Given the description of an element on the screen output the (x, y) to click on. 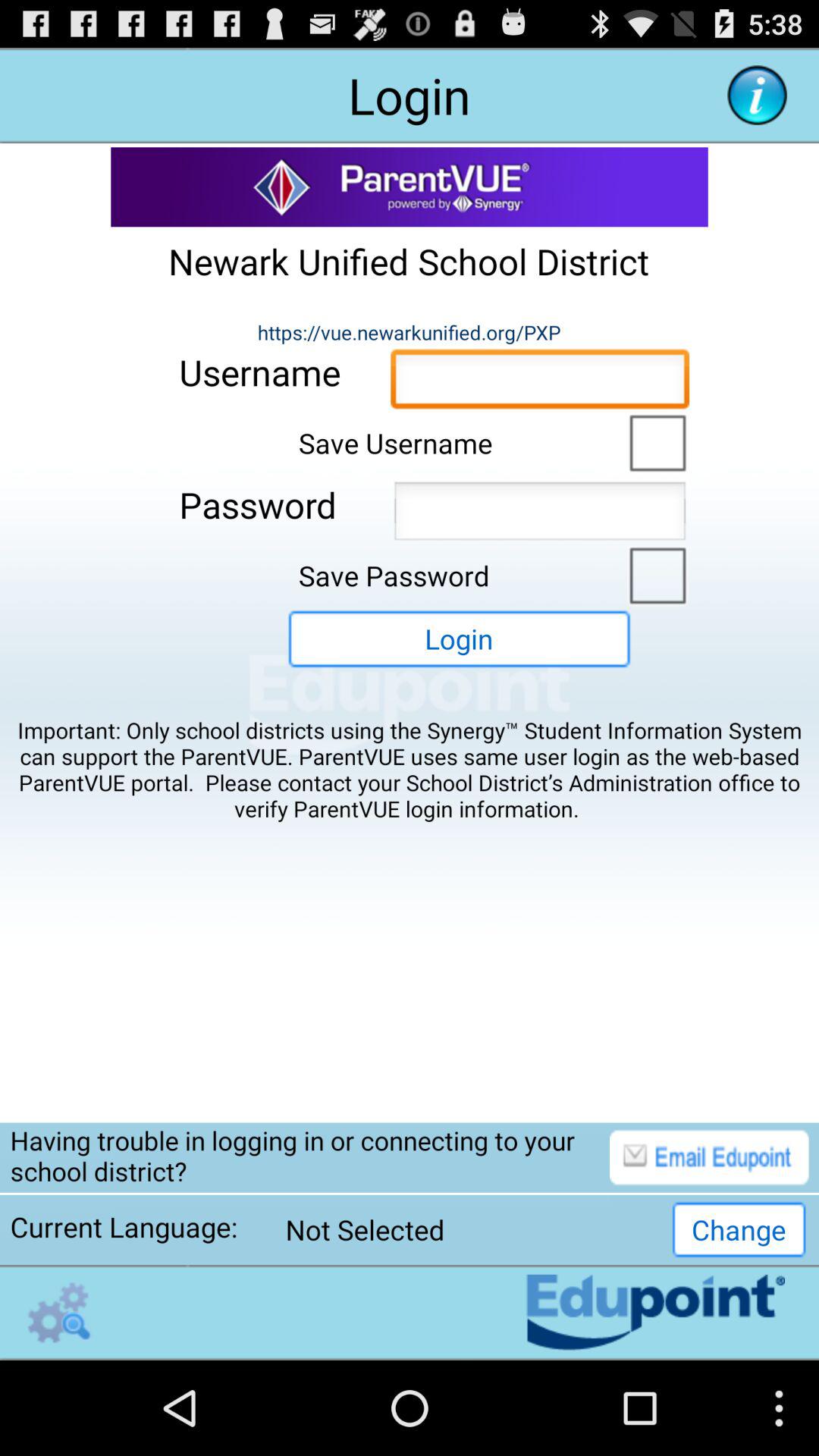
select save password option (654, 574)
